Given the description of an element on the screen output the (x, y) to click on. 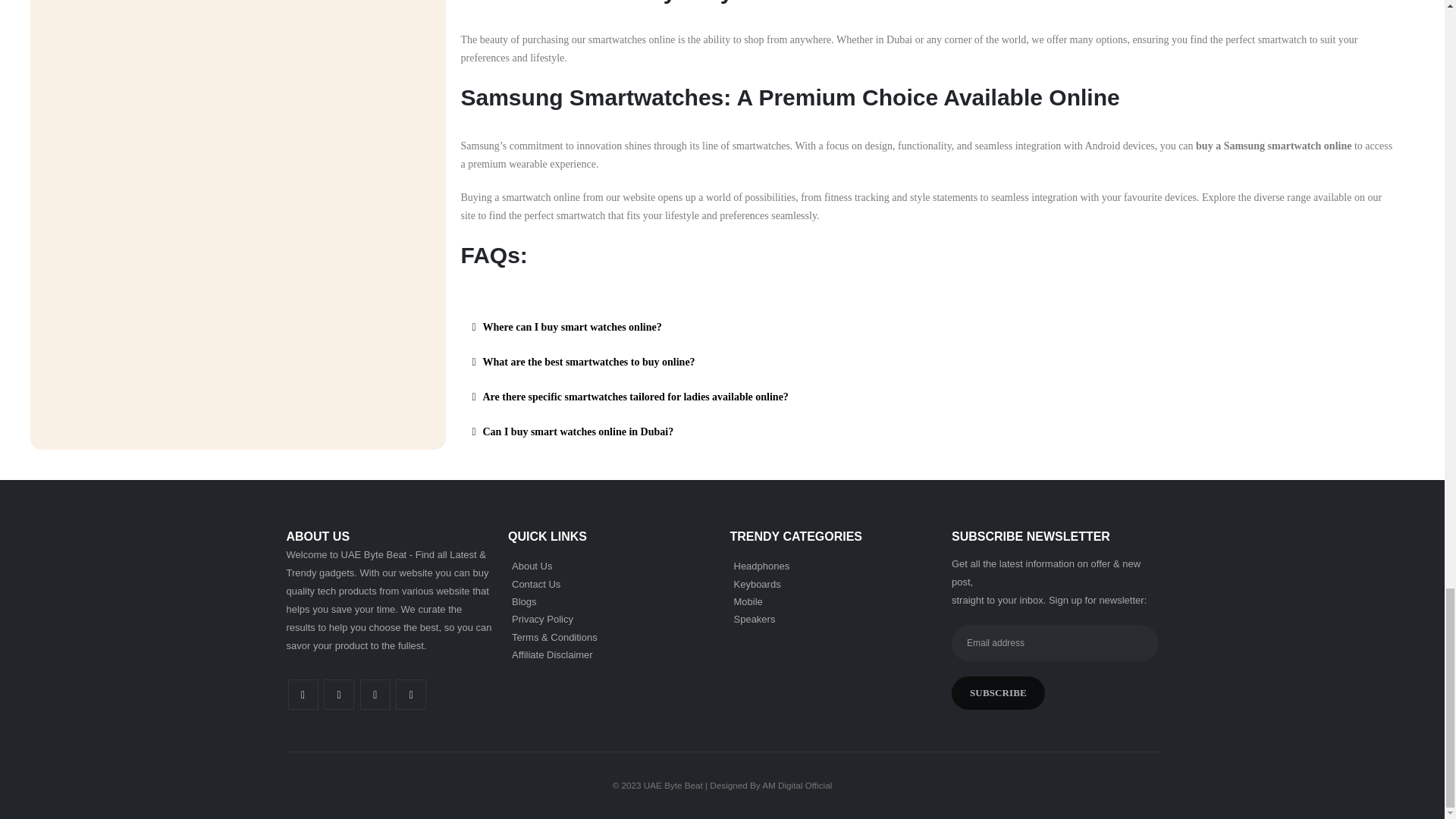
SUBSCRIBE (998, 693)
